Given the description of an element on the screen output the (x, y) to click on. 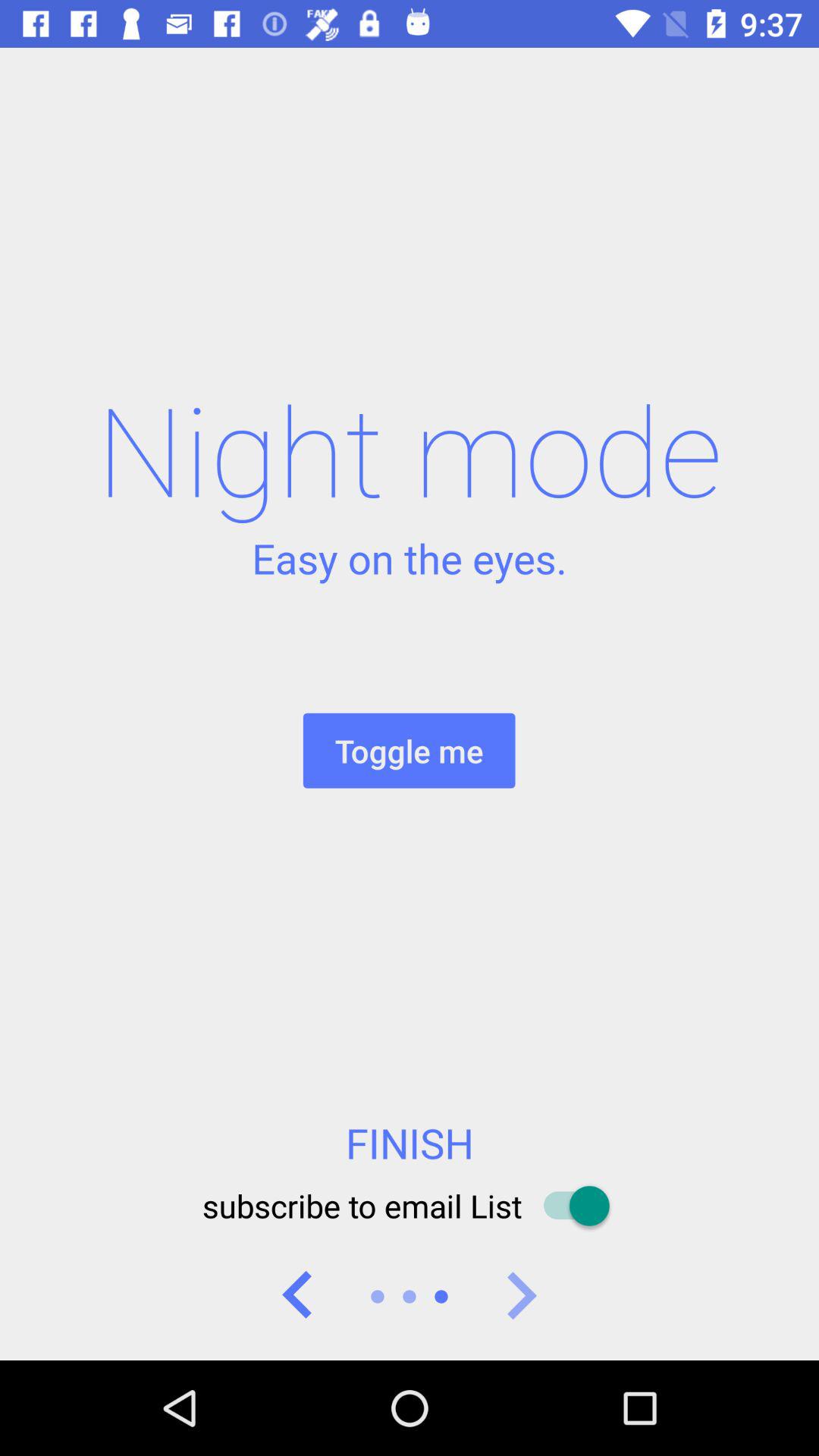
jump until the subscribe to email icon (409, 1206)
